Given the description of an element on the screen output the (x, y) to click on. 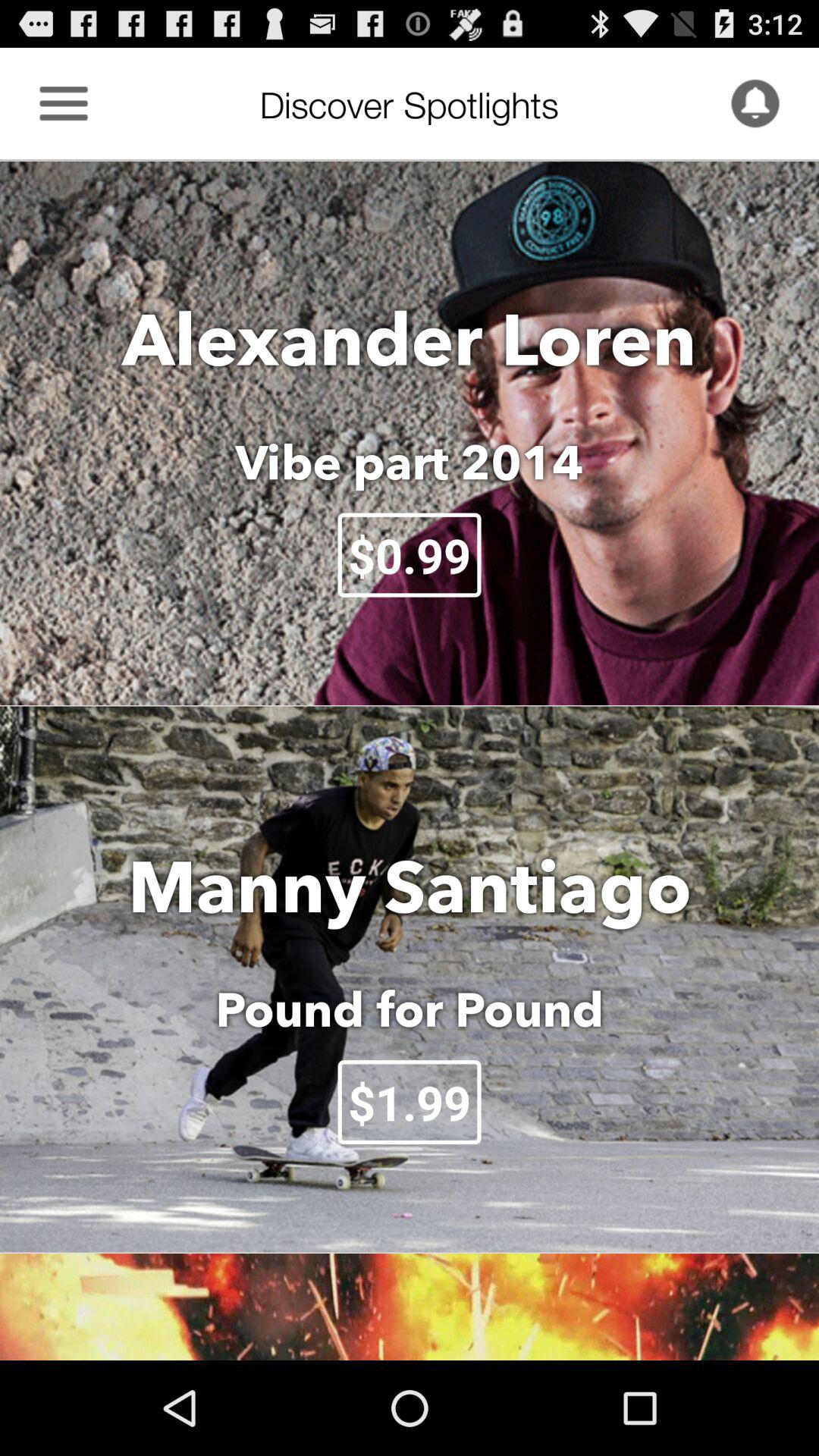
click icon to the right of discover spotlights item (755, 103)
